Given the description of an element on the screen output the (x, y) to click on. 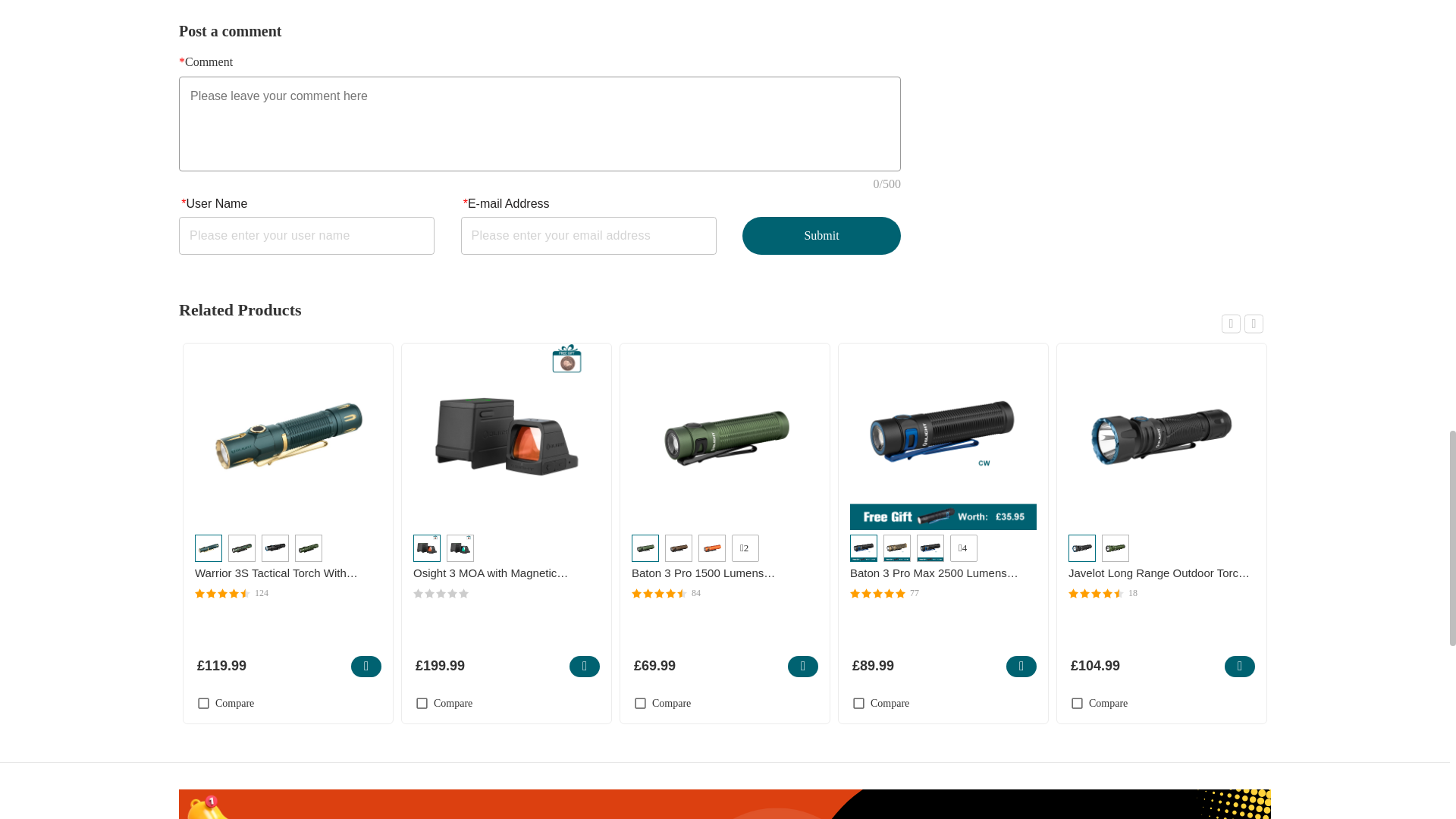
Submit (821, 235)
